Given the description of an element on the screen output the (x, y) to click on. 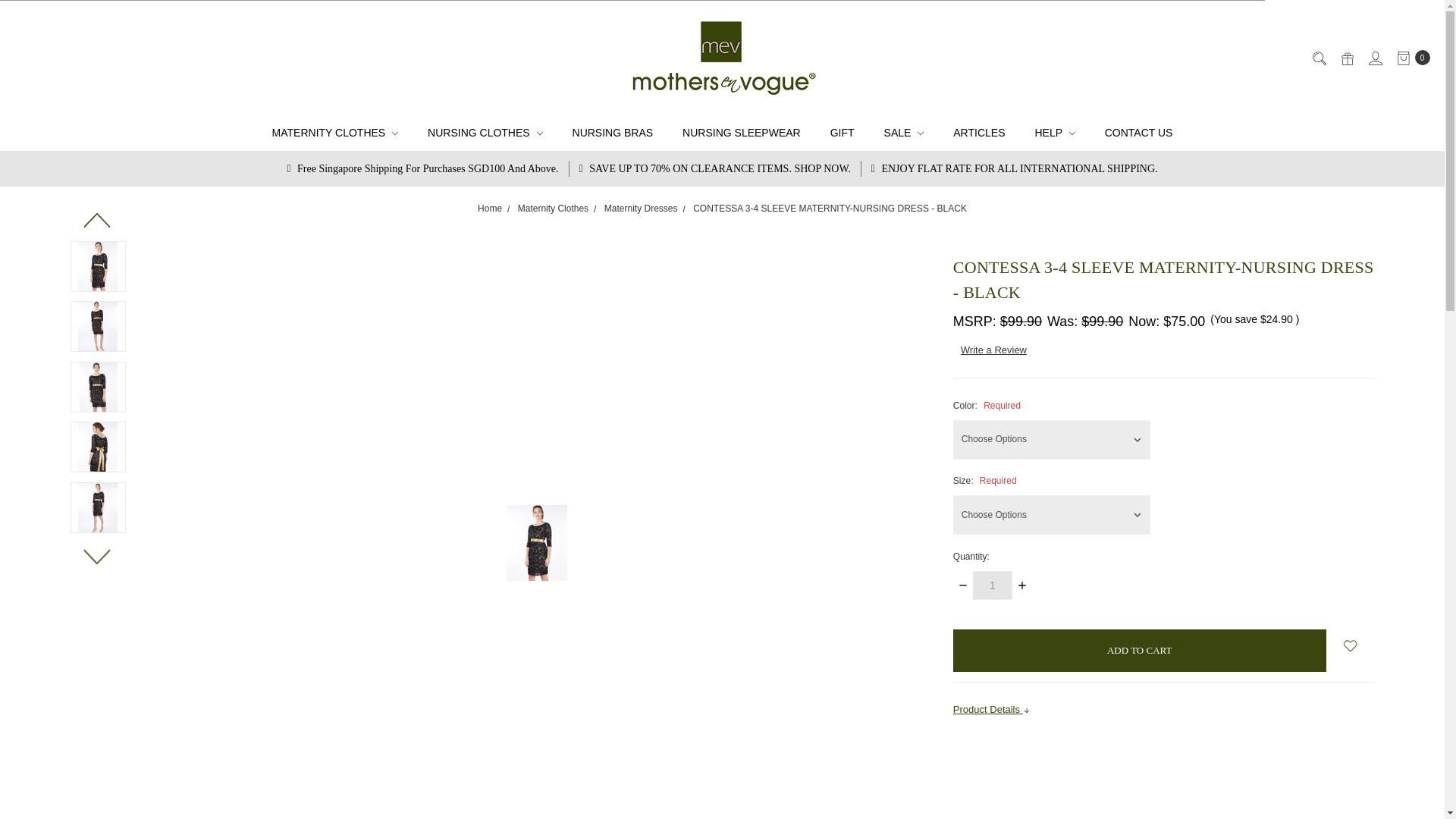
Mothers en Vogue (721, 57)
NURSING BRAS (612, 132)
Add to Cart (1139, 650)
HELP (1054, 132)
NURSING CLOTHES (485, 132)
NURSING SLEEPWEAR (741, 132)
Product Details (1164, 709)
SALE (904, 132)
GIFT (842, 132)
MATERNITY CLOTHES (335, 132)
